Given the description of an element on the screen output the (x, y) to click on. 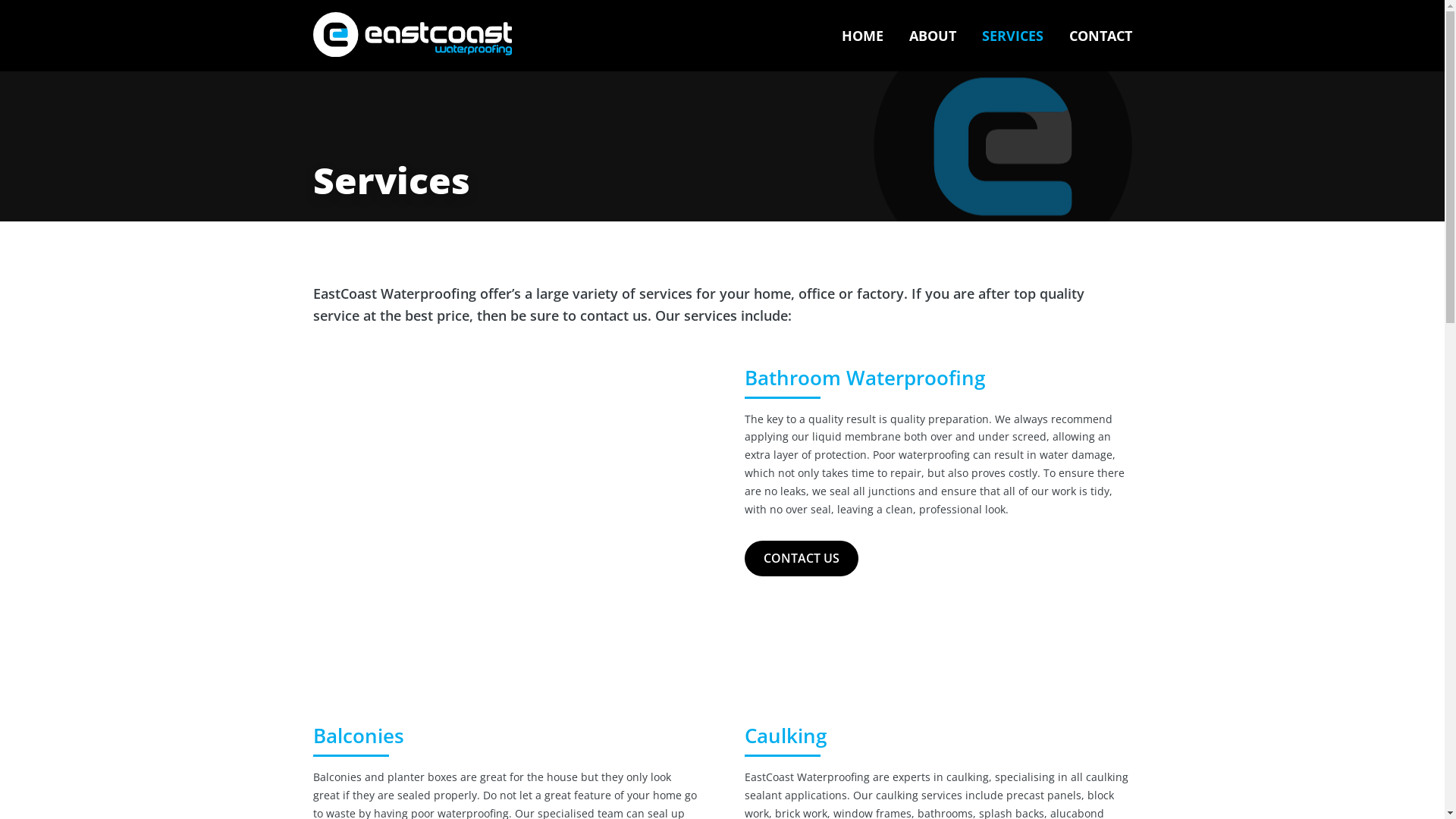
SERVICES Element type: text (1011, 50)
HOME Element type: text (862, 50)
CONTACT Element type: text (1100, 50)
CONTACT US Element type: text (801, 558)
ABOUT Element type: text (931, 50)
